Given the description of an element on the screen output the (x, y) to click on. 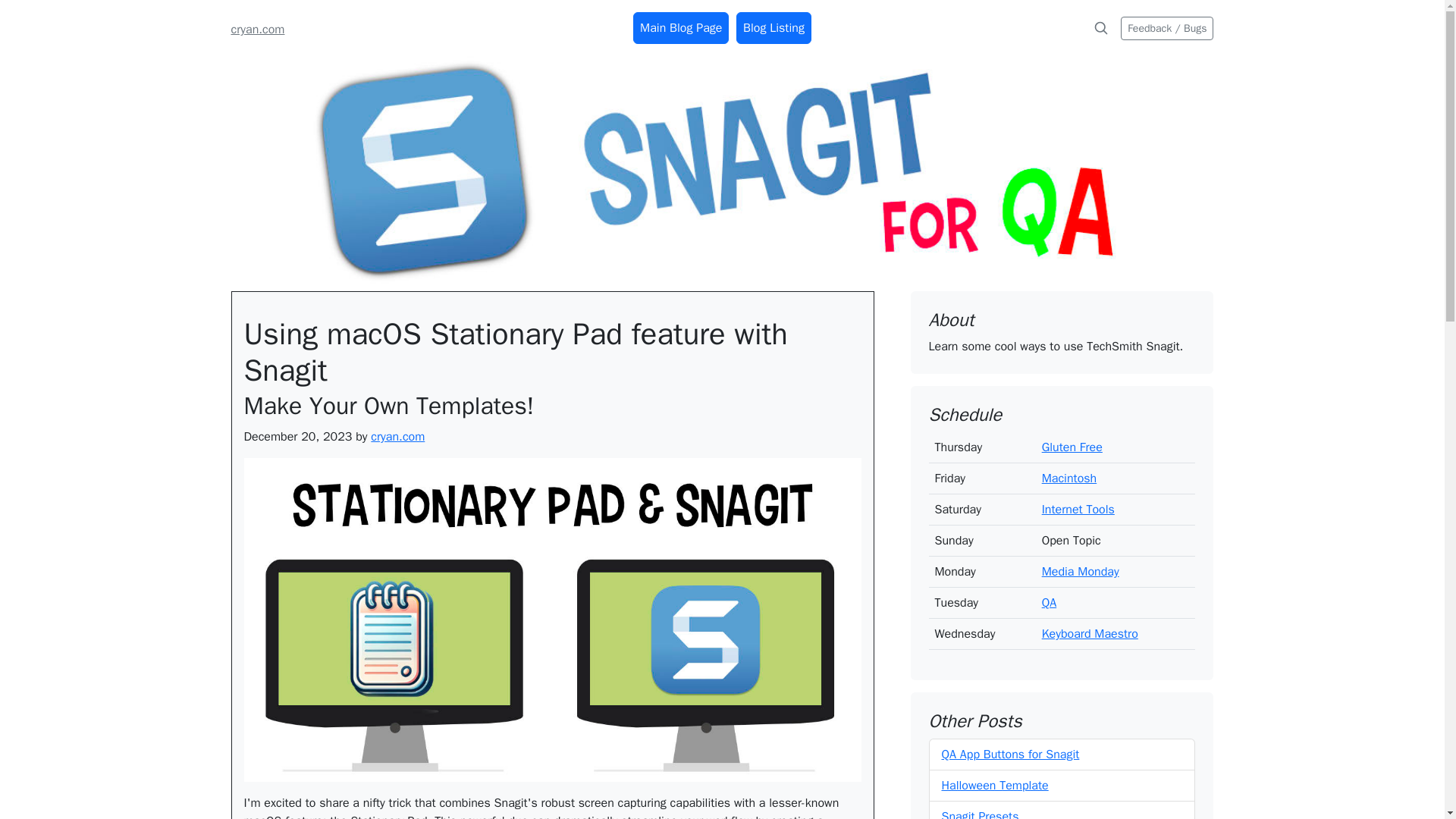
Macintosh (1069, 478)
QA (1049, 602)
Search (1100, 28)
Halloween Template (995, 785)
cryan.com (398, 436)
Snagit Presets (980, 814)
cryan.com (256, 29)
Gluten Free (1072, 447)
Media Monday (1080, 571)
Internet Tools (1078, 509)
QA App Buttons for Snagit (1011, 754)
Main Blog Page (681, 28)
Keyboard Maestro (1090, 633)
Blog Listing (773, 28)
Search (1101, 28)
